Given the description of an element on the screen output the (x, y) to click on. 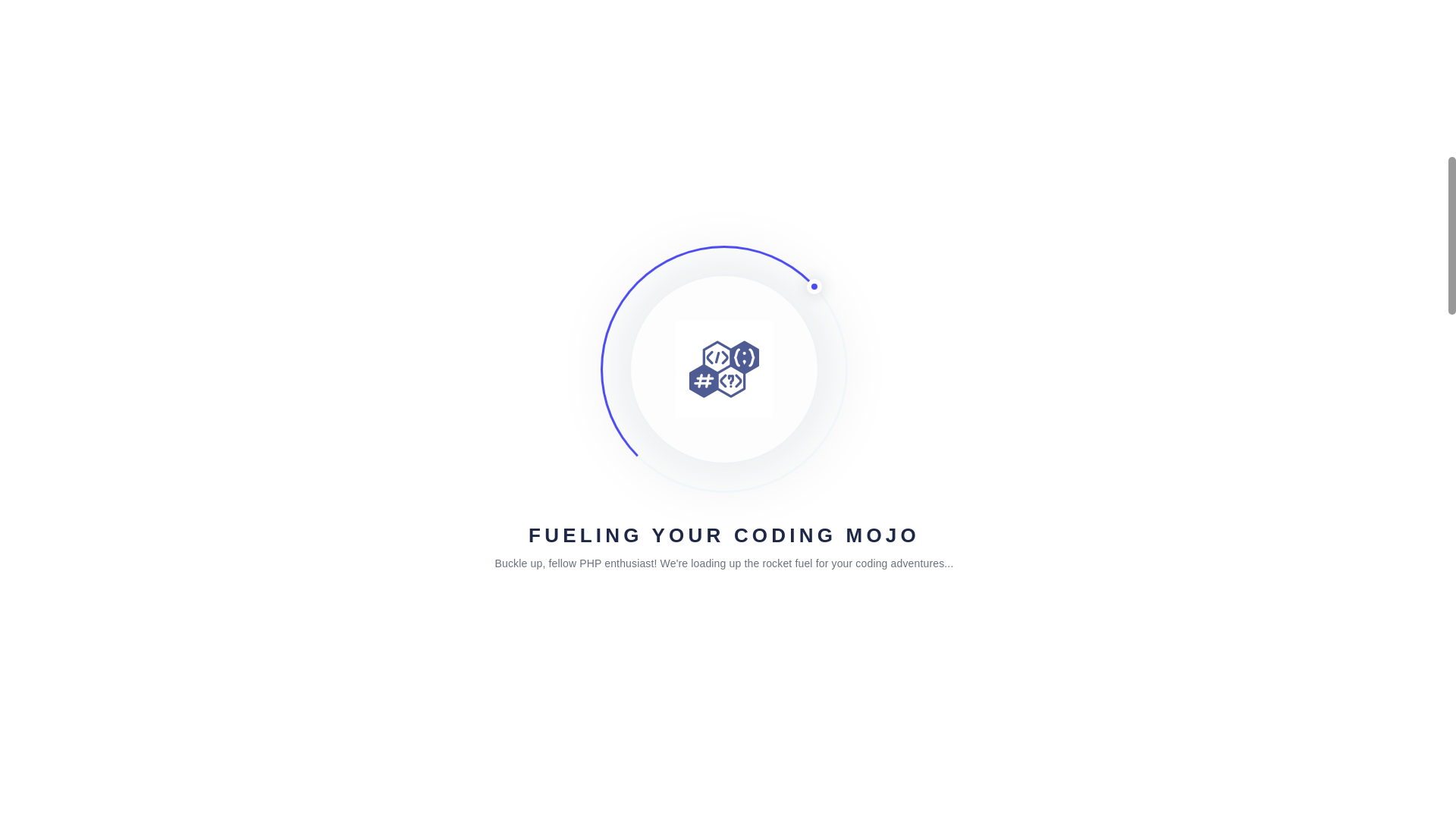
gaylord.maryam (437, 179)
Installation Process (614, 4)
Assistance (399, 4)
Step-by-step Instructions (496, 4)
Windows Server Core (724, 4)
PHP (353, 4)
